Given the description of an element on the screen output the (x, y) to click on. 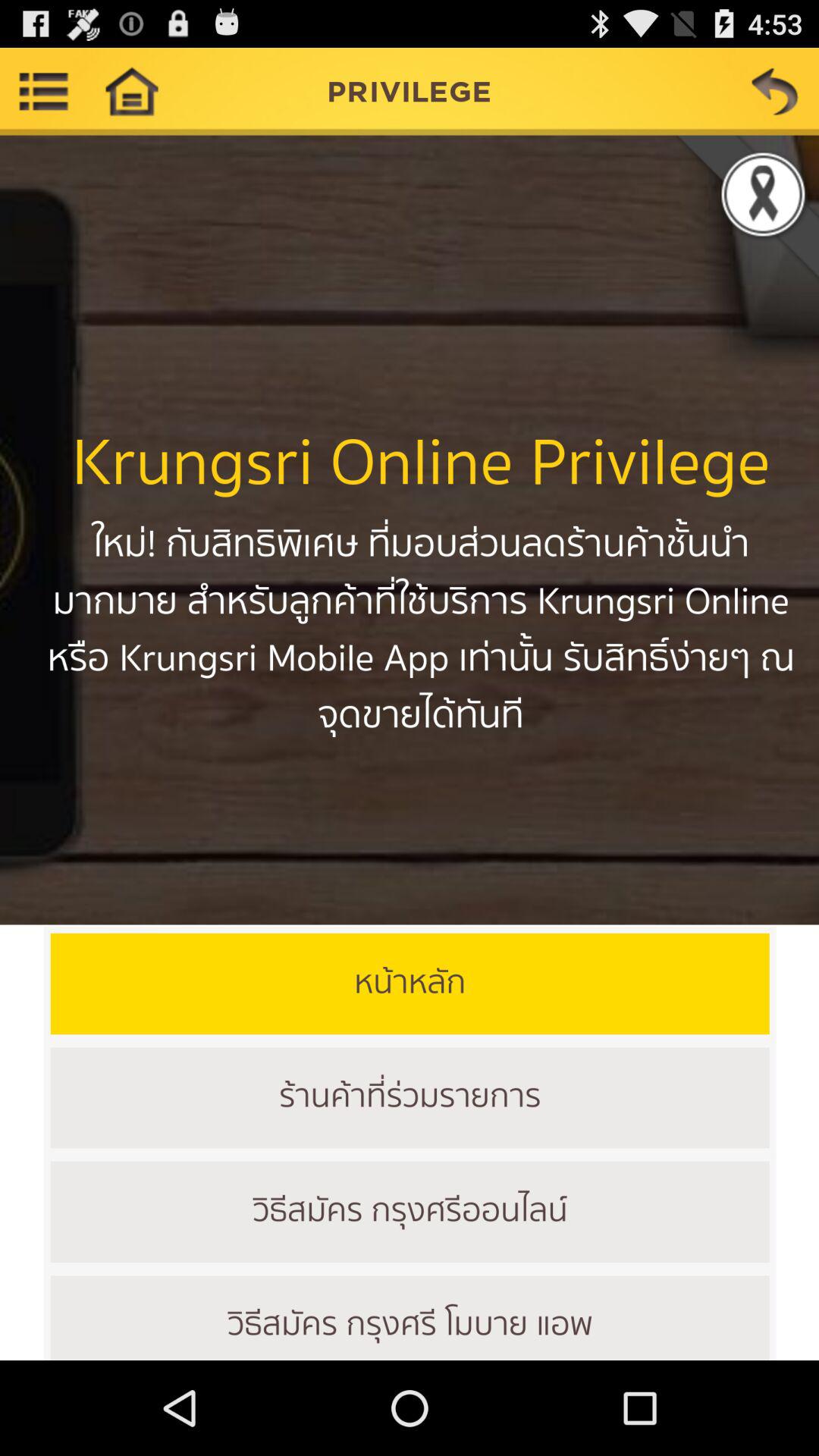
go previous (775, 91)
